Given the description of an element on the screen output the (x, y) to click on. 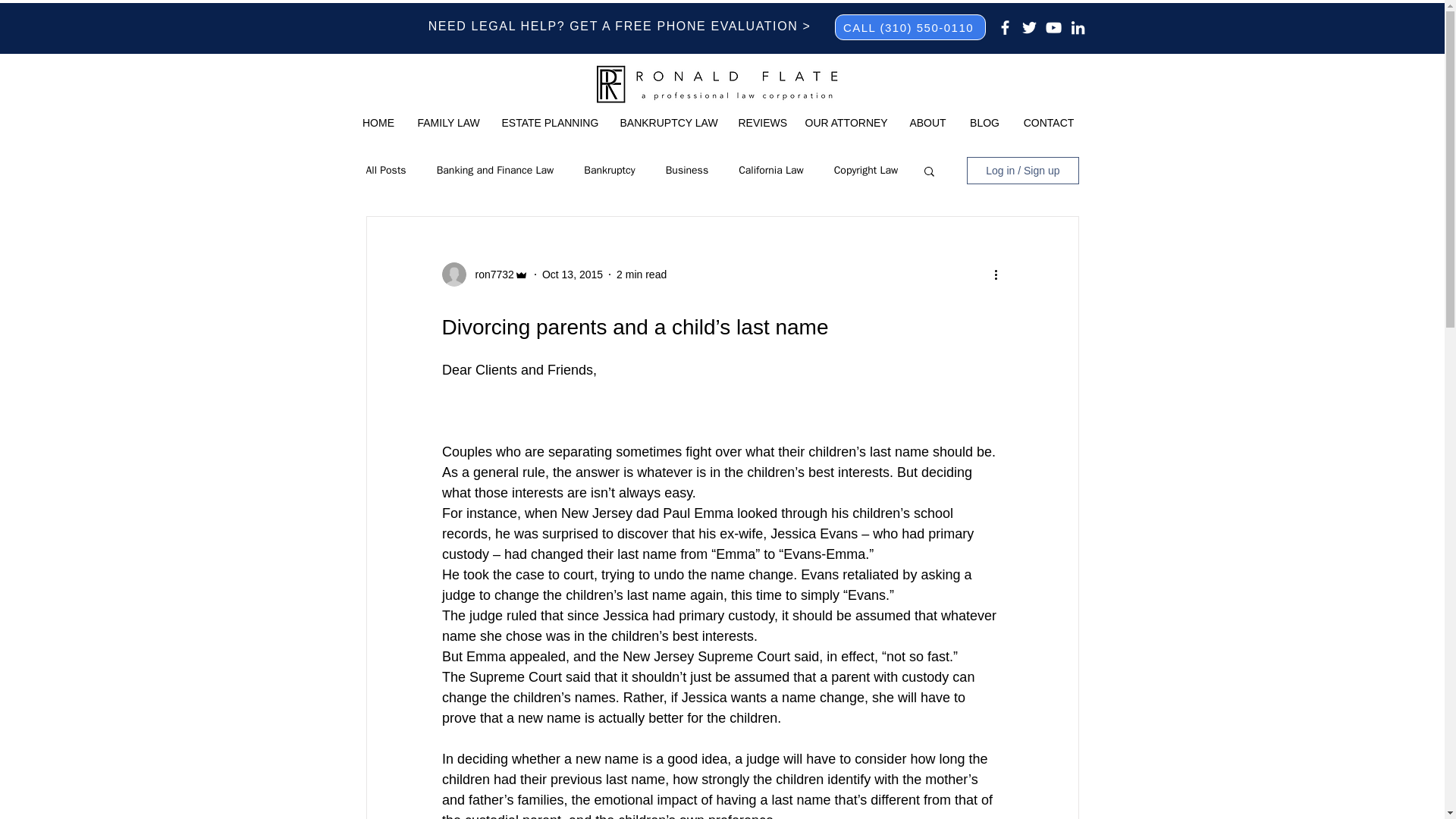
CONTACT (1048, 122)
All Posts (385, 170)
2 min read (640, 274)
BANKRUPTCY LAW (667, 122)
Business (686, 170)
ABOUT (928, 122)
OUR ATTORNEY (844, 122)
BLOG (984, 122)
Oct 13, 2015 (571, 274)
ron7732 (489, 274)
HOME (378, 122)
California Law (770, 170)
Bankruptcy (608, 170)
Copyright Law (866, 170)
ESTATE PLANNING (548, 122)
